Given the description of an element on the screen output the (x, y) to click on. 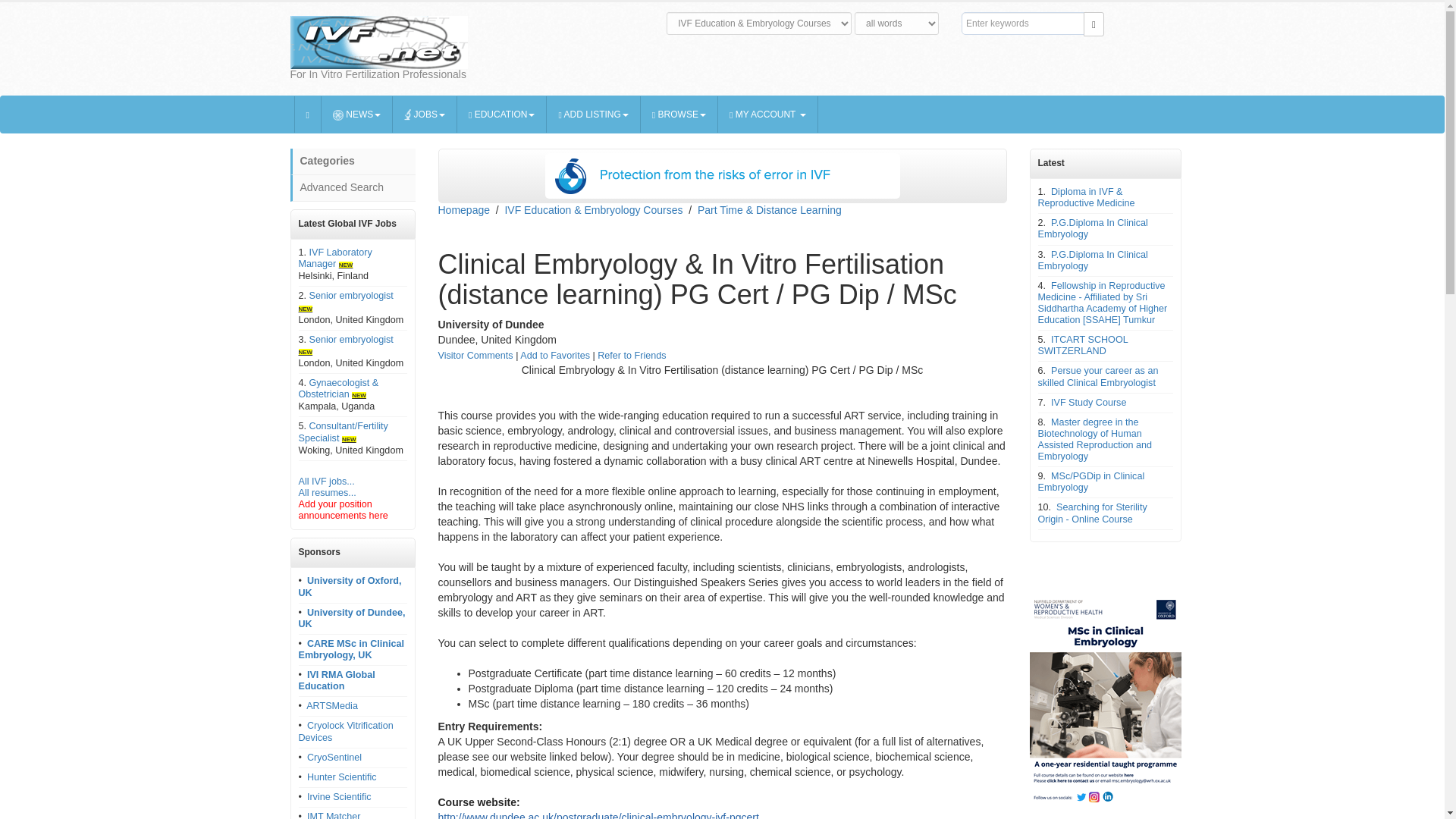
BROWSE (678, 114)
MY ACCOUNT (767, 114)
Categories (351, 161)
ADD LISTING (593, 114)
JOBS (425, 114)
NEWS (357, 114)
EDUCATION (502, 114)
